Given the description of an element on the screen output the (x, y) to click on. 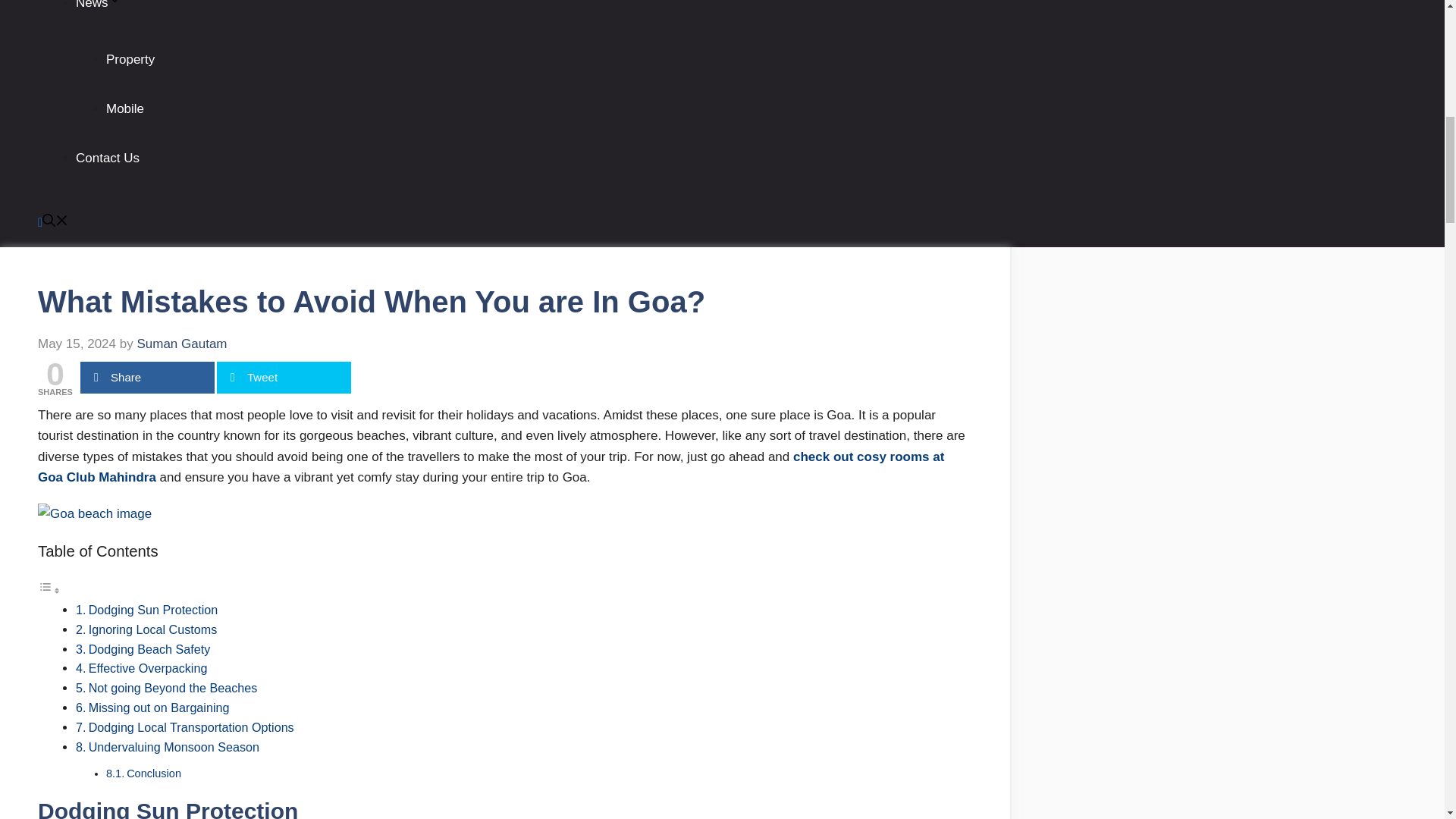
check out cosy rooms at Goa Club Mahindra (490, 466)
Tweet (283, 377)
Conclusion  (155, 773)
Not going Beyond the Beaches  (174, 687)
Effective Overpacking  (149, 667)
Suman Gautam (181, 343)
Property (130, 59)
Dodging Sun Protection  (154, 609)
Mobile (125, 108)
Missing out on Bargaining  (160, 707)
Contact Us (107, 157)
